Given the description of an element on the screen output the (x, y) to click on. 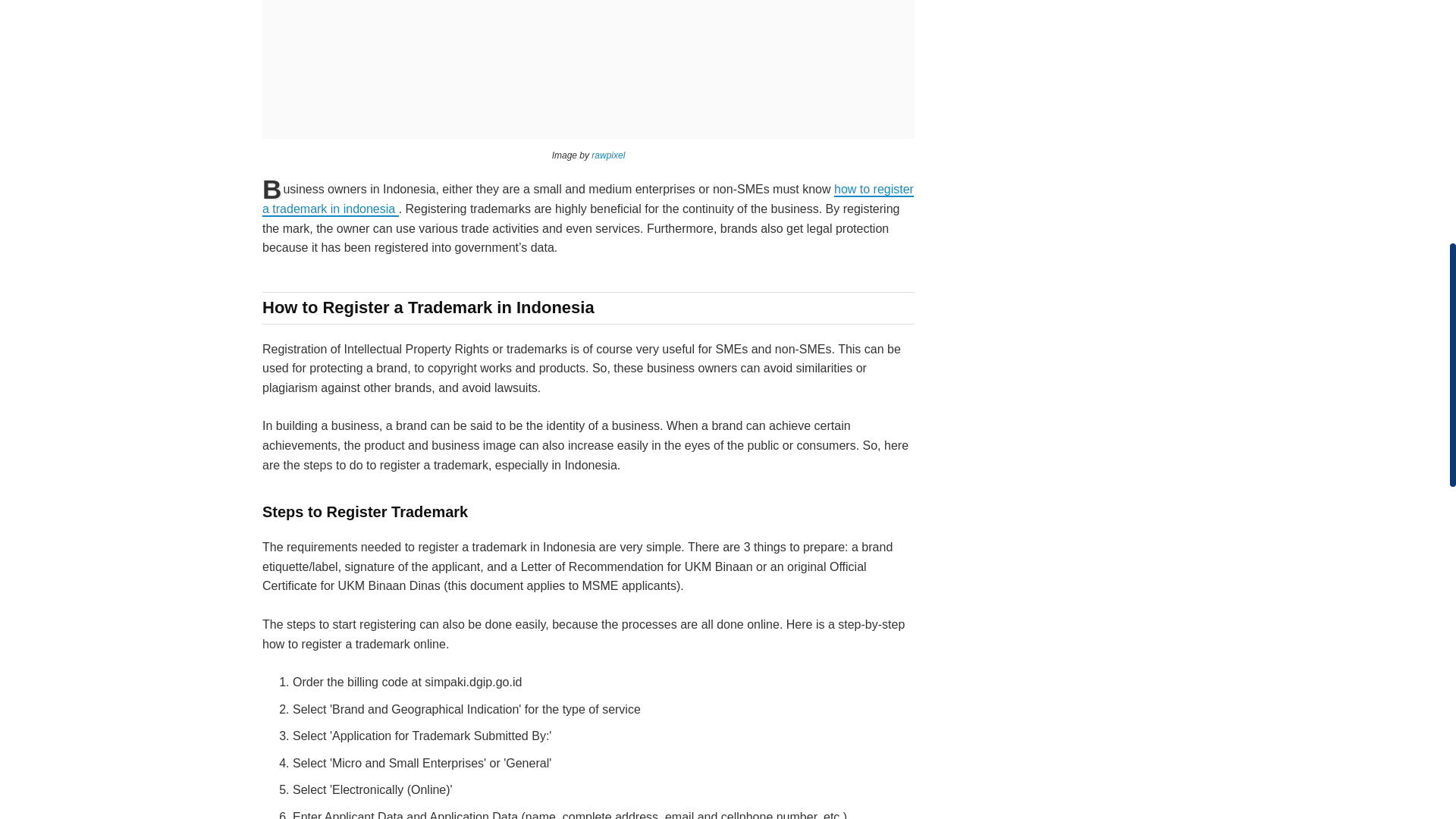
Steps on How to Register a Trademark in Indonesia (588, 69)
how to register a trademark in indonesia (588, 198)
rawpixel (607, 154)
